Given the description of an element on the screen output the (x, y) to click on. 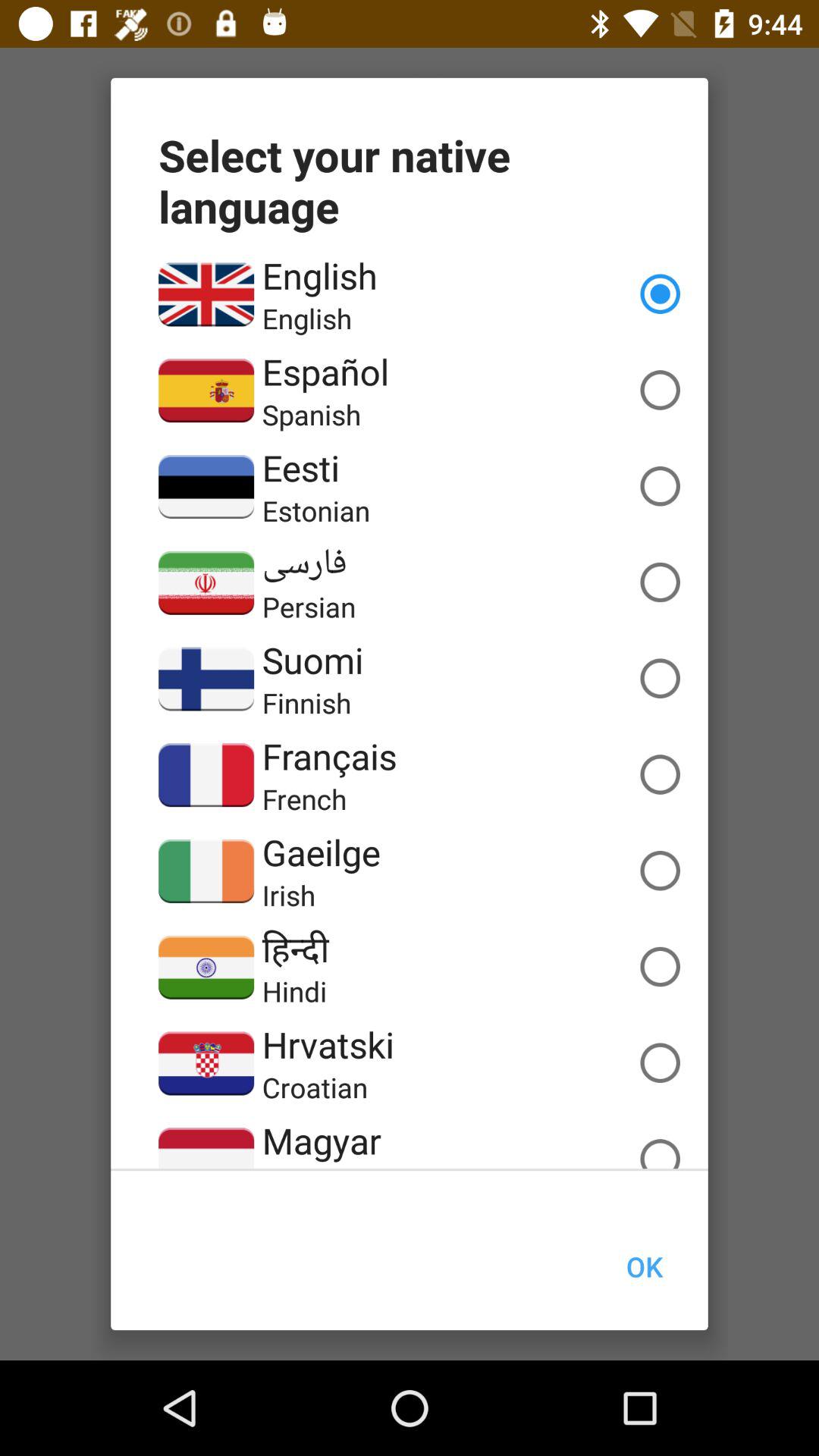
turn off the french item (304, 798)
